Given the description of an element on the screen output the (x, y) to click on. 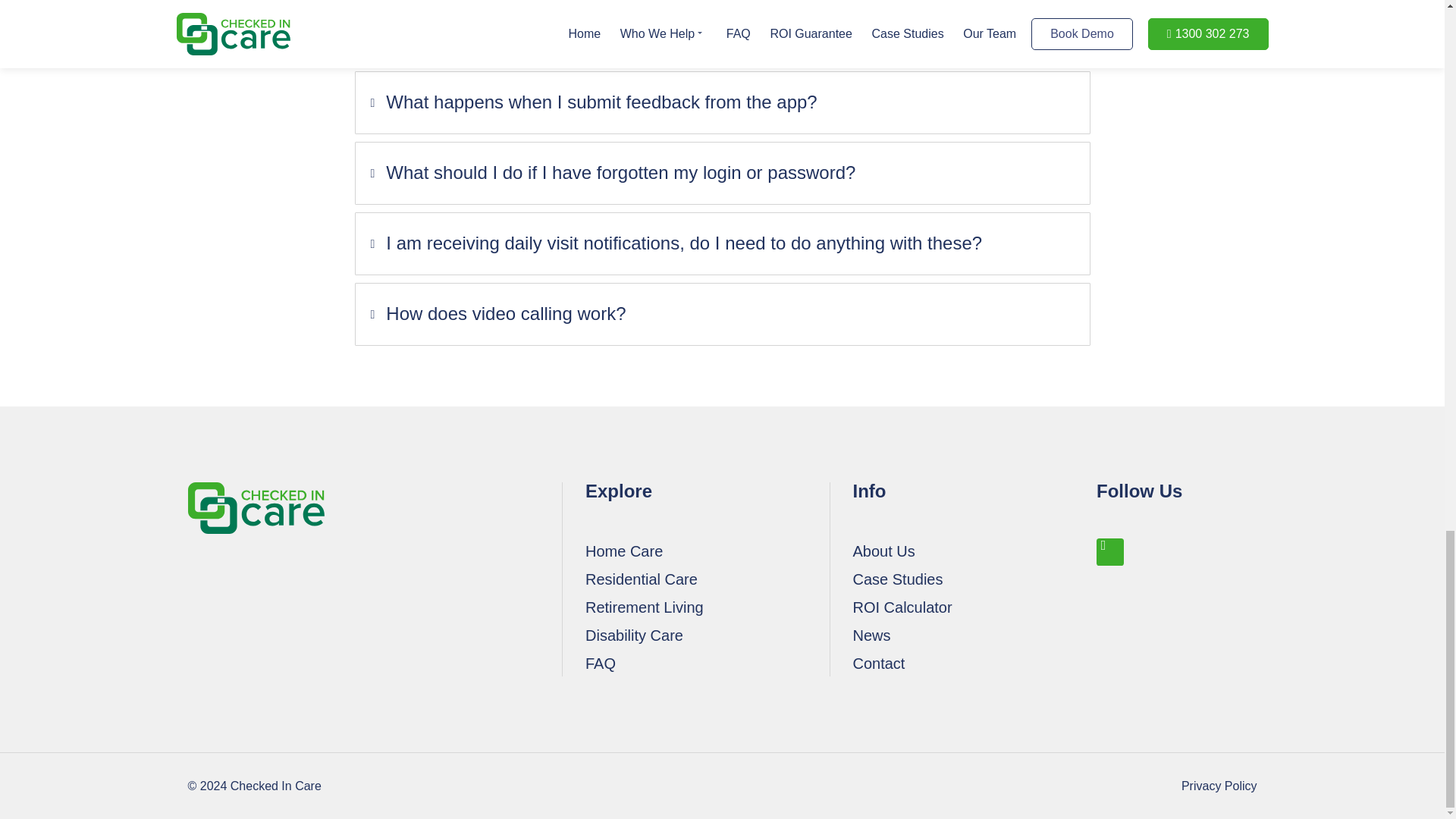
About Us (973, 551)
Retirement Living (707, 606)
Disability Care (707, 635)
FAQ (707, 663)
Home Care (707, 551)
Case Studies (973, 579)
Residential Care (707, 579)
